Given the description of an element on the screen output the (x, y) to click on. 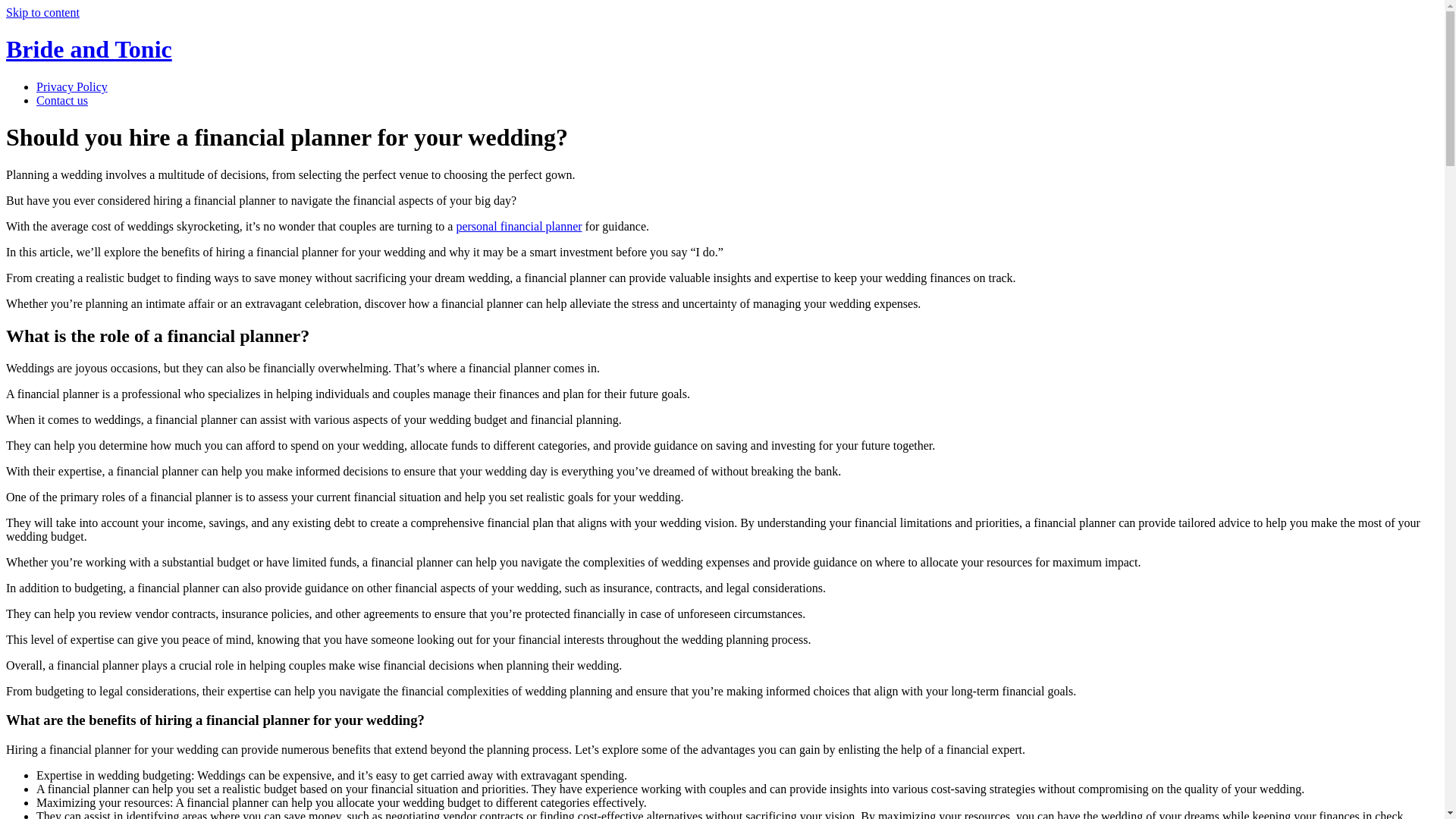
Bride and Tonic (88, 49)
Home (88, 49)
Privacy Policy (71, 86)
personal financial planner (517, 226)
Contact us (61, 100)
Skip to content (42, 11)
